Given the description of an element on the screen output the (x, y) to click on. 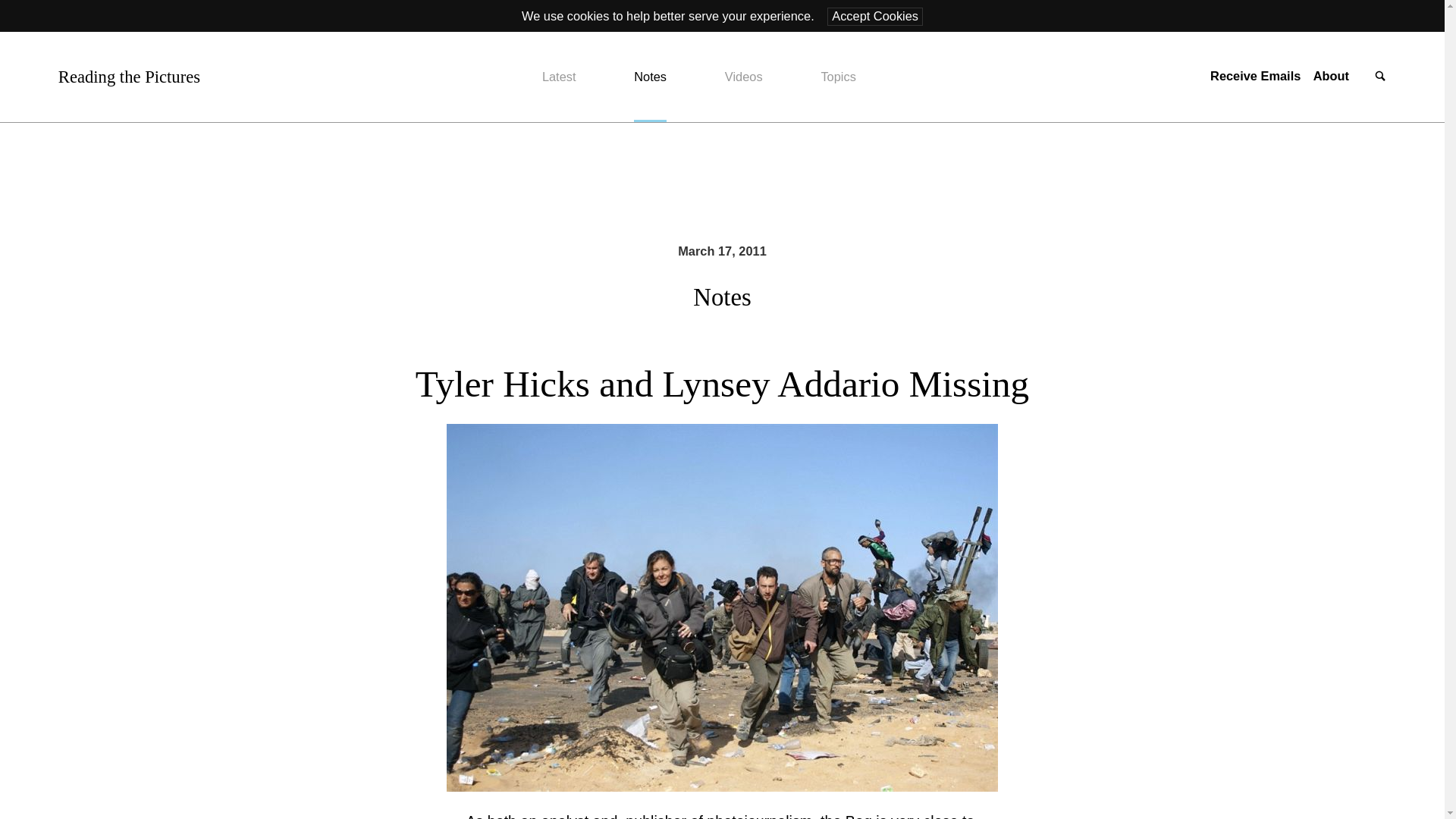
Accept Cookies (875, 16)
Newsletter Signup (1254, 75)
Receive Emails (1254, 75)
About (1331, 75)
search (1380, 78)
About (1331, 75)
Reading the Pictures (129, 76)
Reading the Pictures (129, 76)
